Given the description of an element on the screen output the (x, y) to click on. 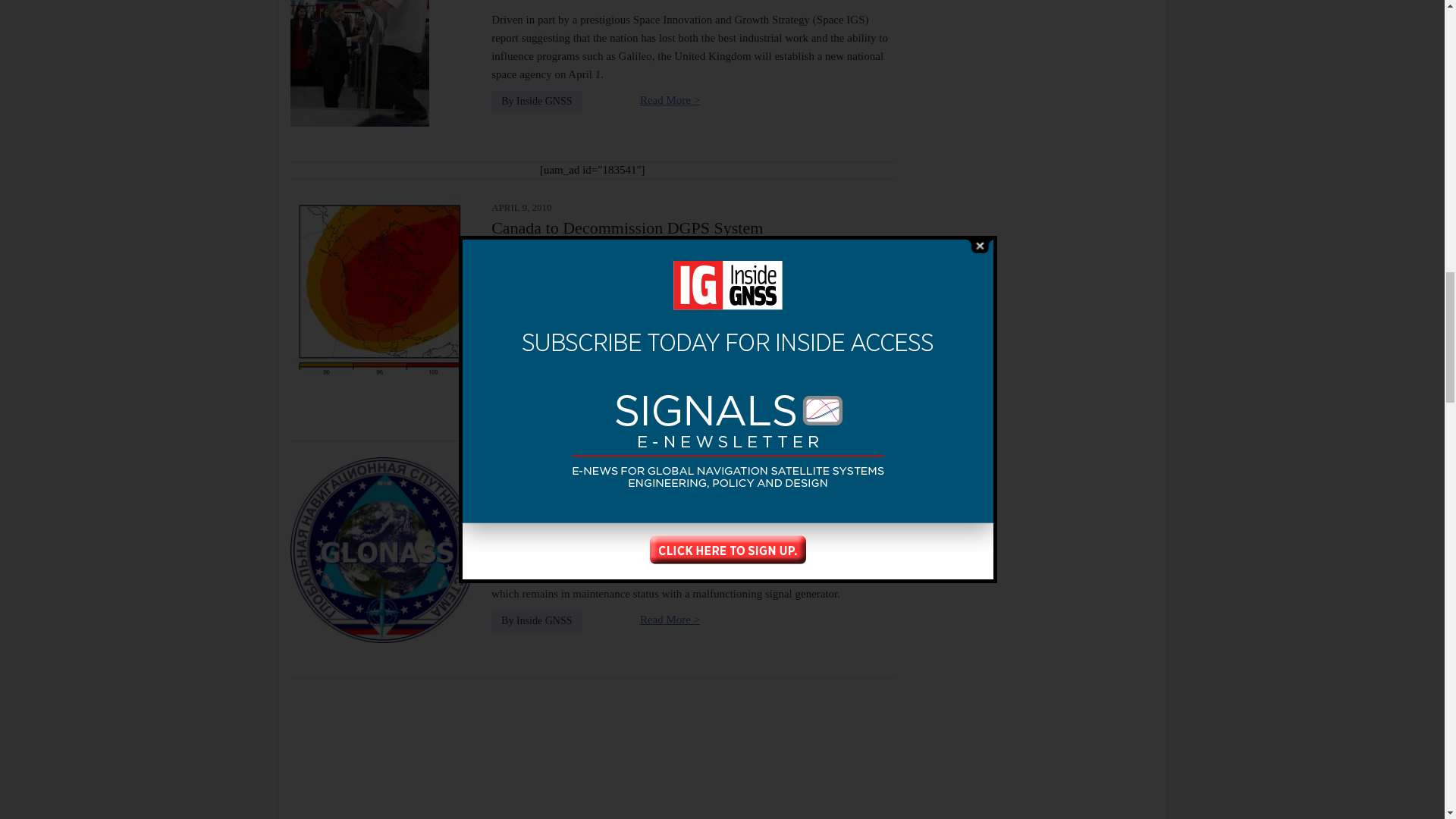
3rd party ad content (1030, 774)
3rd party ad content (1030, 207)
3rd party ad content (1030, 411)
3rd party ad content (1030, 47)
3rd party ad content (1030, 617)
